Given the description of an element on the screen output the (x, y) to click on. 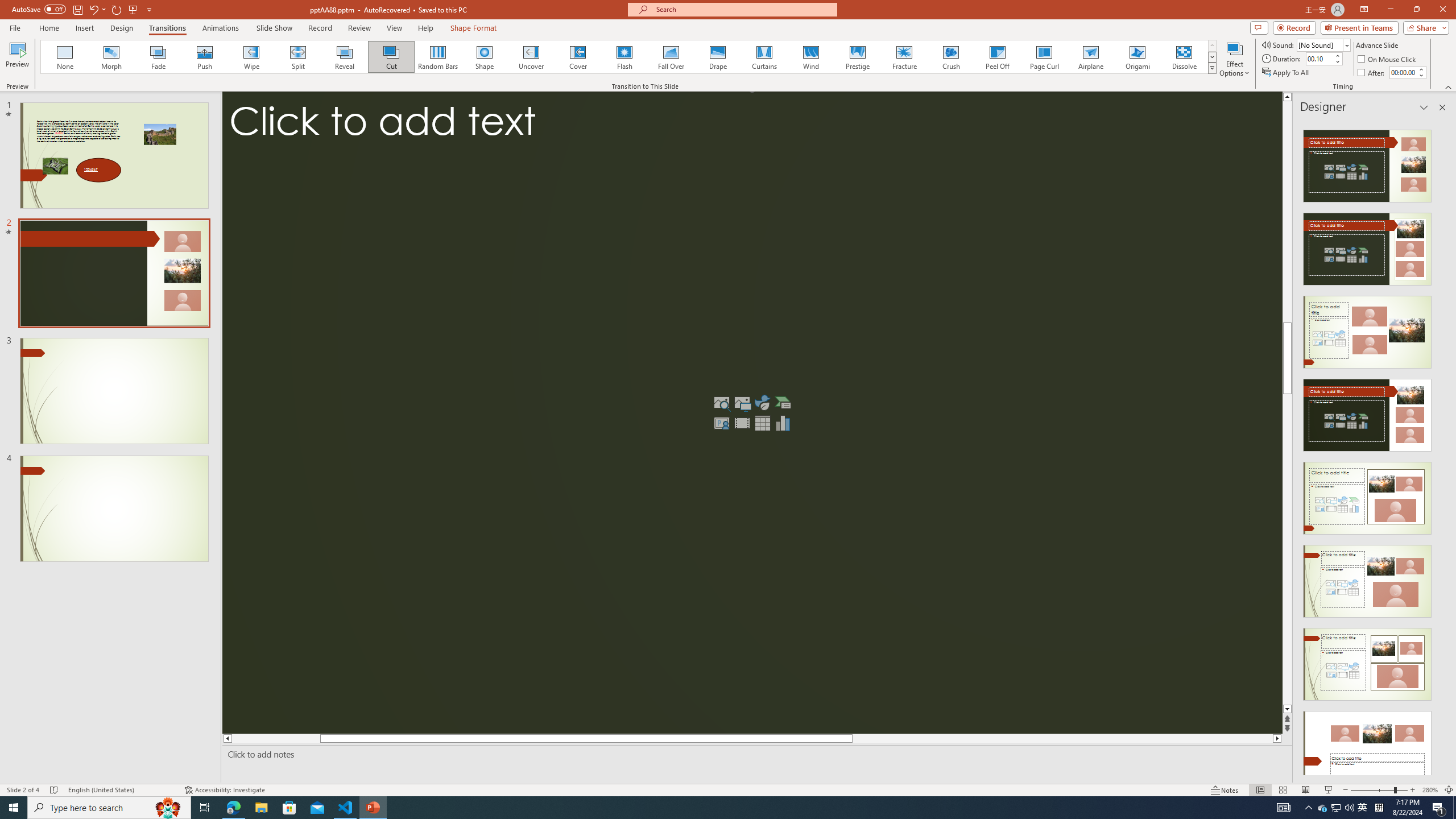
Fracture (903, 56)
Push (205, 56)
Stock Images (720, 402)
Morph (111, 56)
Page Curl (1043, 56)
None (65, 56)
On Mouse Click (1387, 58)
